Given the description of an element on the screen output the (x, y) to click on. 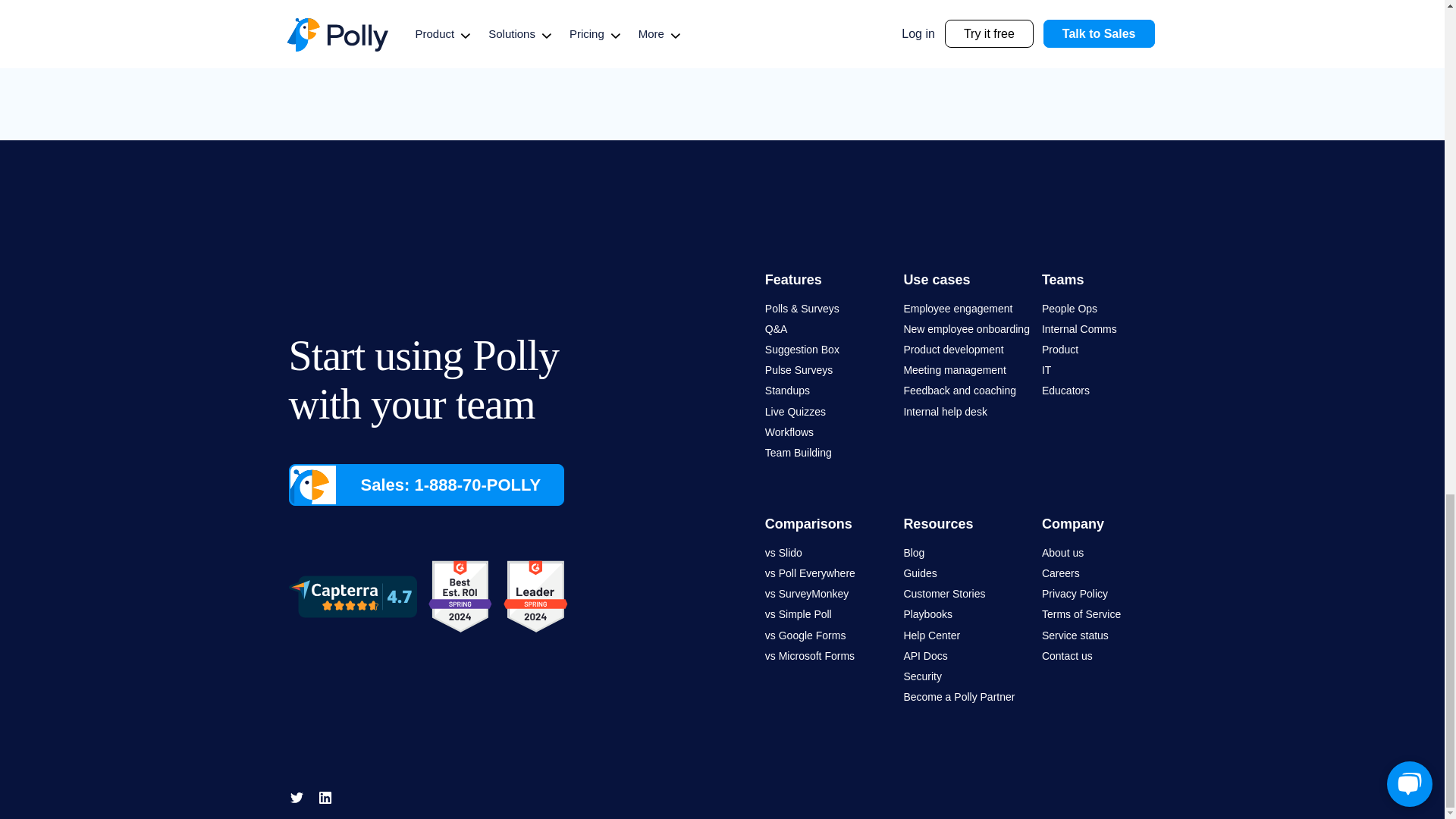
Sales: 1-888-70-POLLY (426, 485)
